Given the description of an element on the screen output the (x, y) to click on. 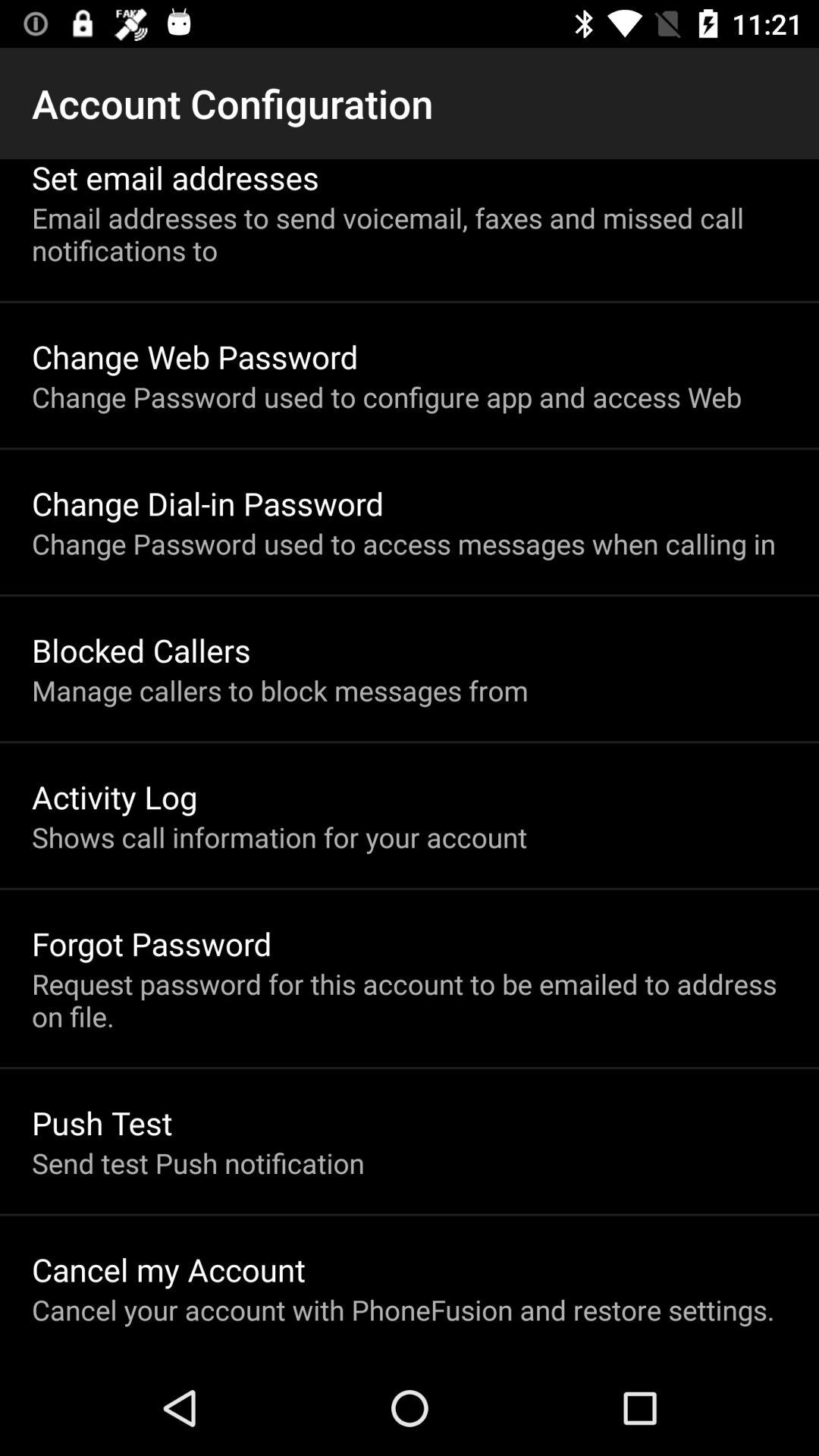
open shows call information item (279, 836)
